Given the description of an element on the screen output the (x, y) to click on. 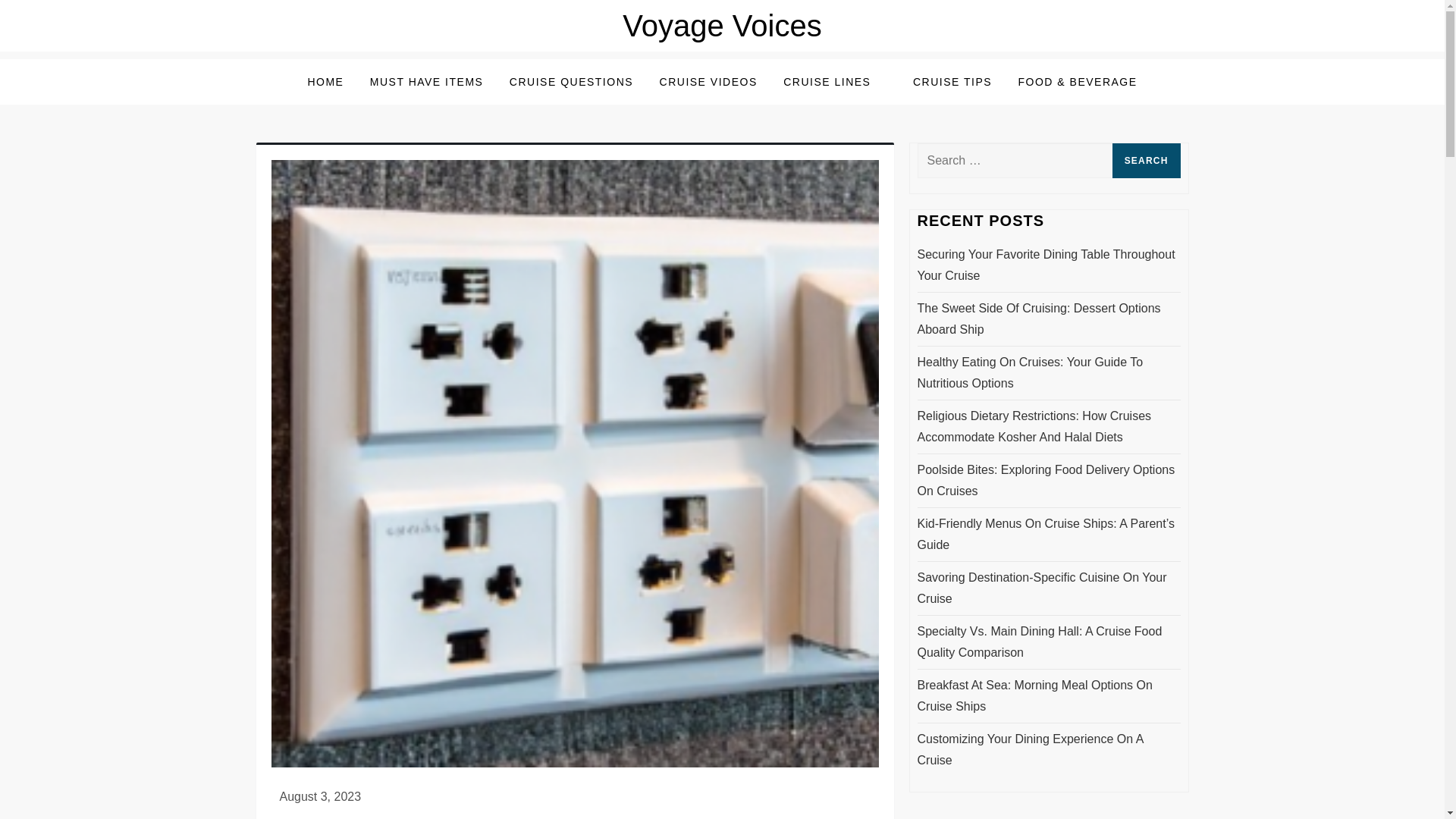
Healthy Eating On Cruises: Your Guide To Nutritious Options (1048, 372)
Breakfast At Sea: Morning Meal Options On Cruise Ships (1048, 695)
Voyage Voices (722, 25)
CRUISE QUESTIONS (571, 81)
MUST HAVE ITEMS (426, 81)
August 3, 2023 (320, 796)
CRUISE TIPS (952, 81)
Search (1146, 160)
Poolside Bites: Exploring Food Delivery Options On Cruises (1048, 480)
Search (1146, 160)
